Given the description of an element on the screen output the (x, y) to click on. 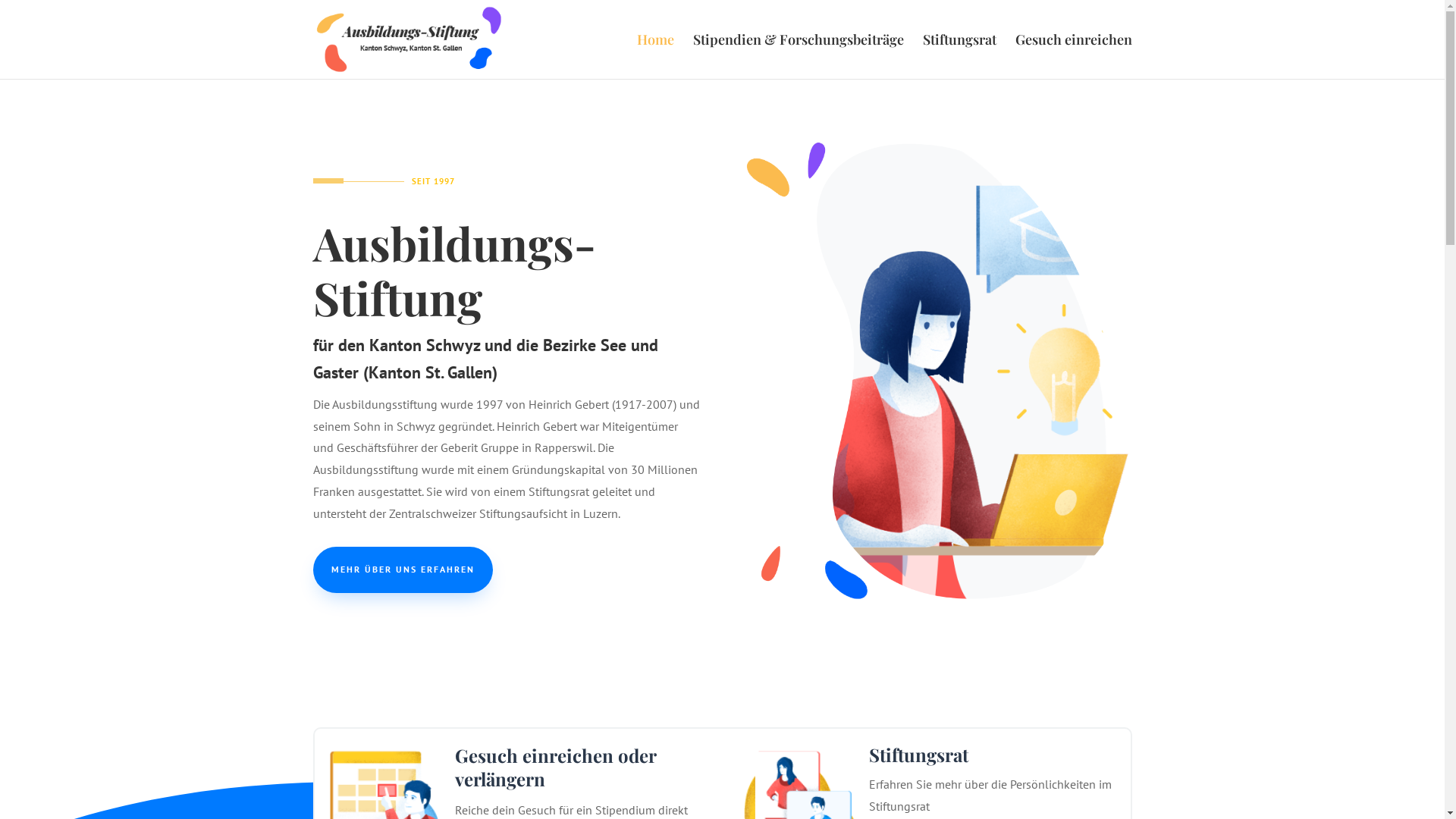
Gesuch einreichen Element type: text (1072, 56)
Home Element type: text (655, 56)
Stiftungsrat Element type: text (958, 56)
